Given the description of an element on the screen output the (x, y) to click on. 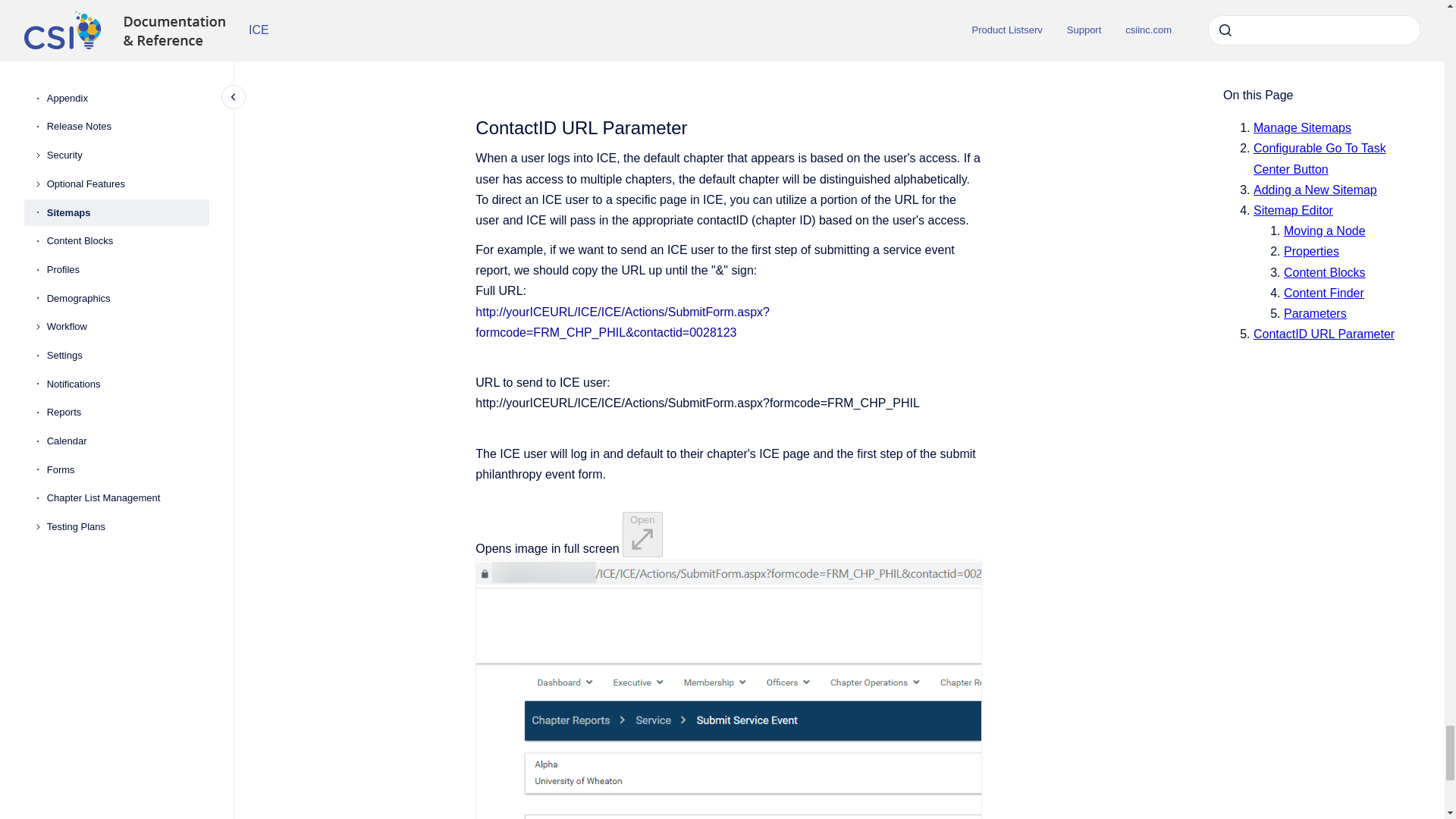
Copy to clipboard (468, 126)
